Given the description of an element on the screen output the (x, y) to click on. 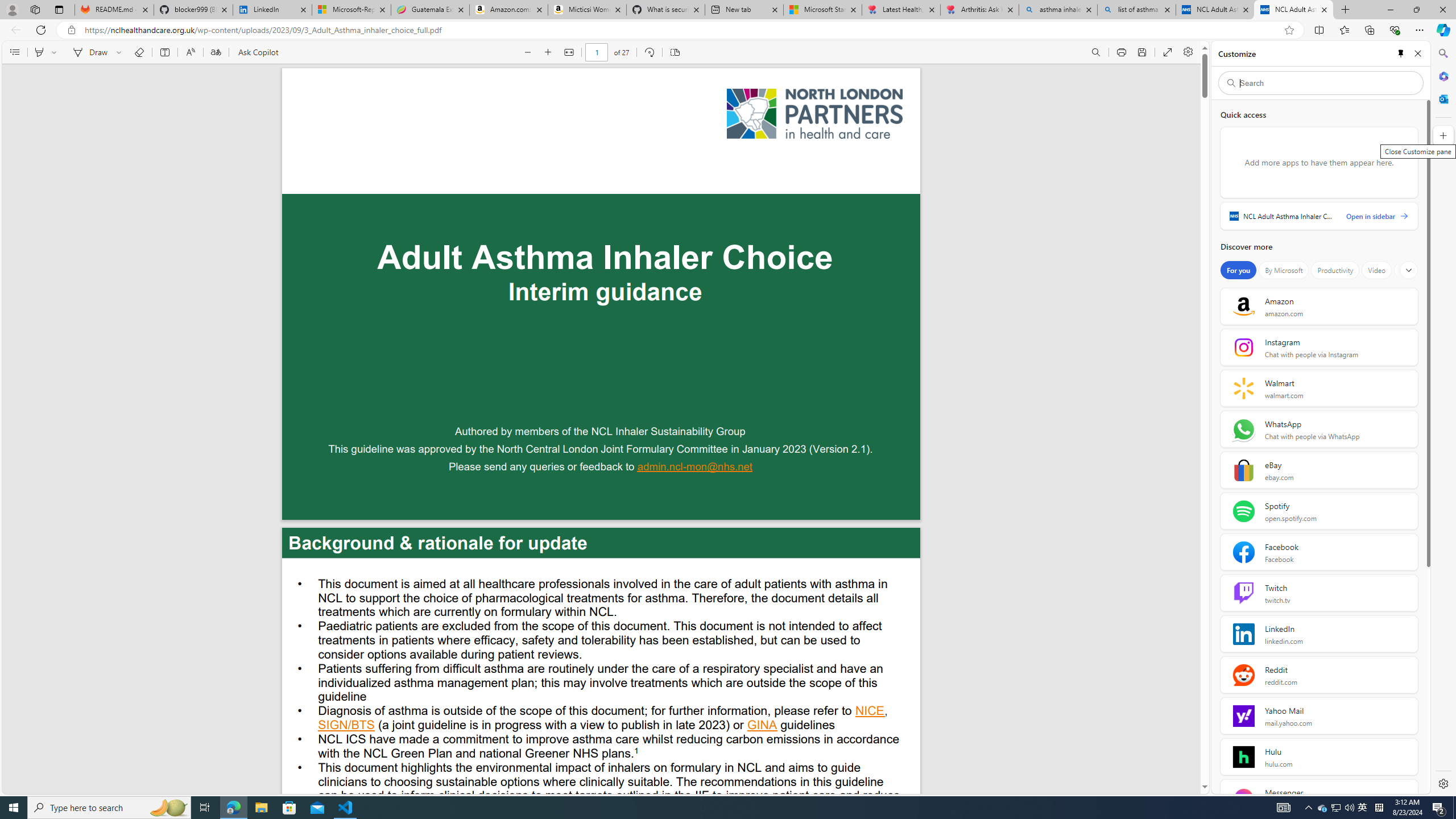
Translate (215, 52)
Ask Copilot (257, 52)
Fit to width (Ctrl+\) (569, 52)
By Microsoft (1282, 270)
Highlight (39, 52)
Unlabeled graphic (814, 114)
Rotate (Ctrl+]) (649, 52)
SIGN/BTS (346, 726)
Select ink properties (120, 52)
